Given the description of an element on the screen output the (x, y) to click on. 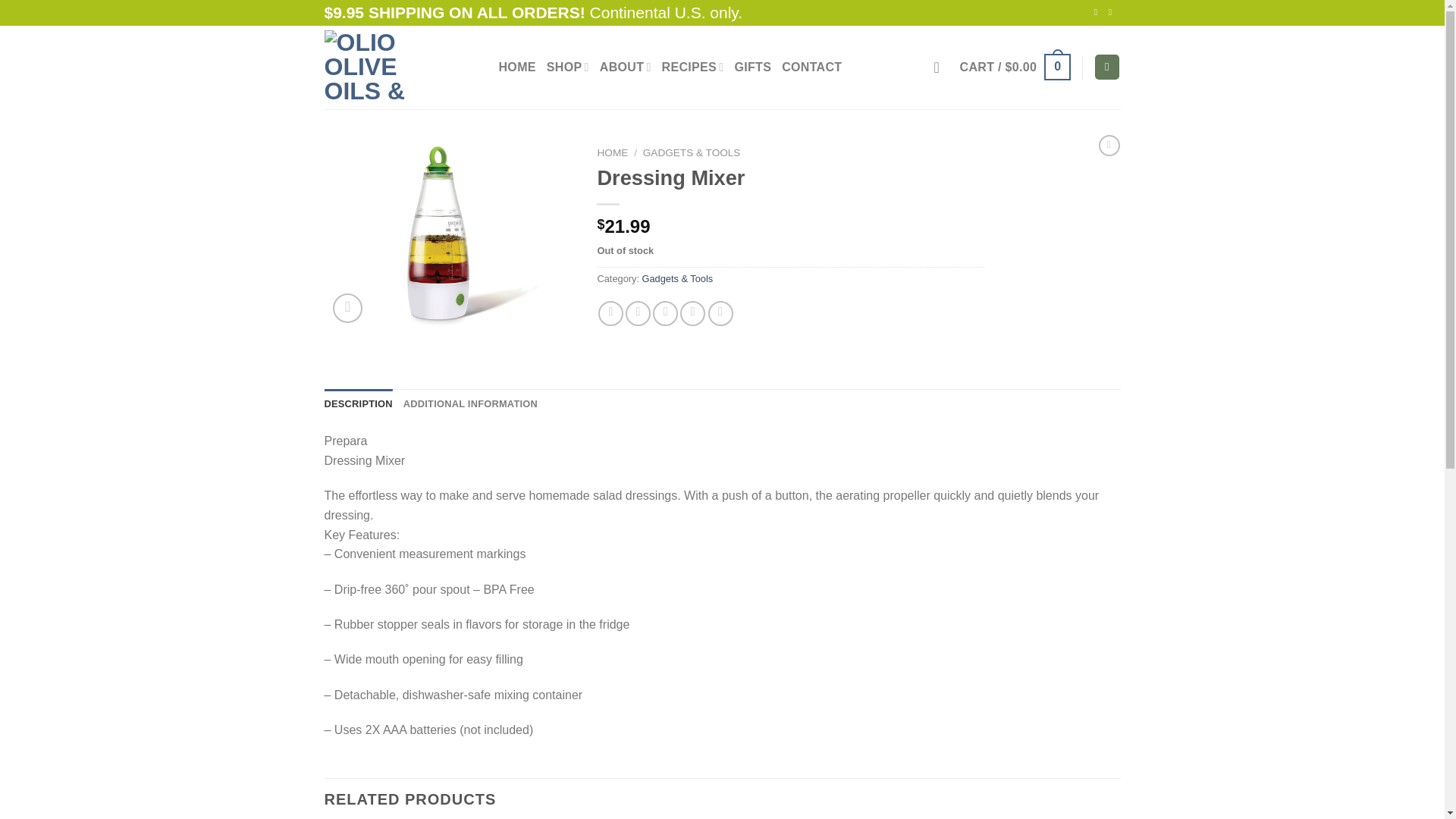
ABOUT (624, 66)
Share on LinkedIn (720, 313)
Share on Twitter (638, 313)
Pin on Pinterest (691, 313)
HOME (517, 67)
Cart (1015, 66)
mix (449, 234)
Zoom (347, 307)
SHOP (568, 66)
Share on Facebook (610, 313)
